Given the description of an element on the screen output the (x, y) to click on. 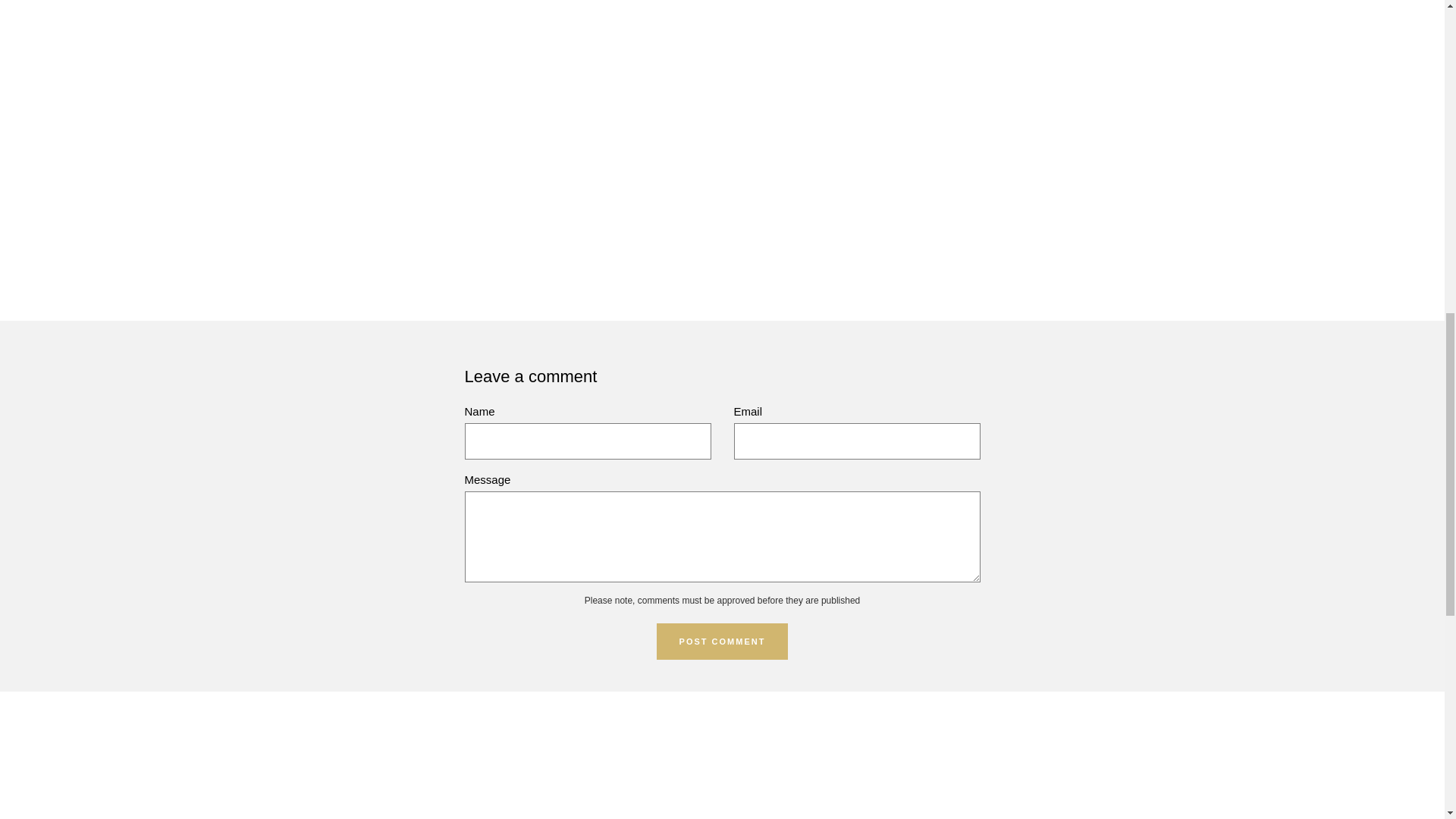
Post comment (722, 641)
